Given the description of an element on the screen output the (x, y) to click on. 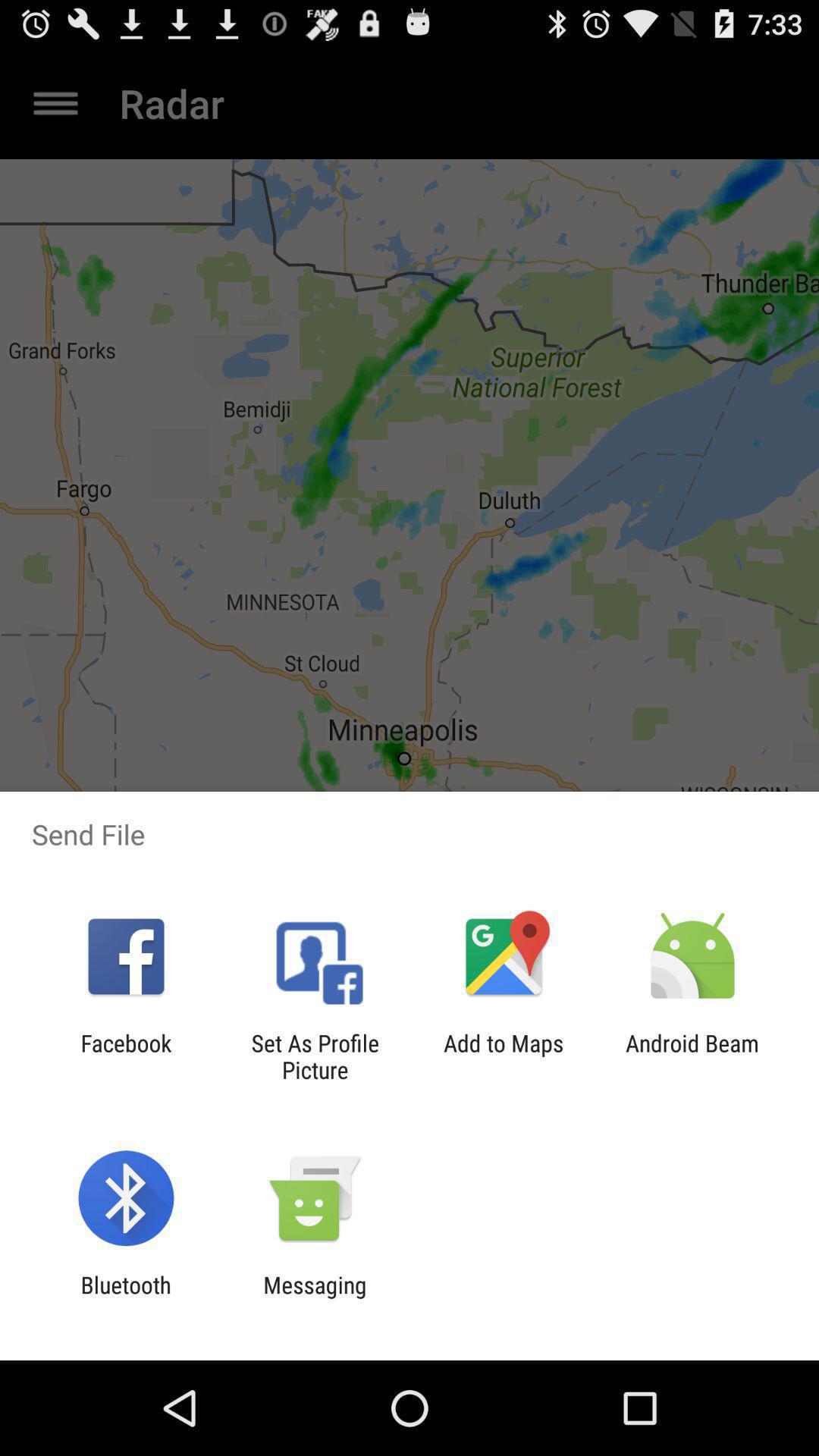
tap the facebook icon (125, 1056)
